Given the description of an element on the screen output the (x, y) to click on. 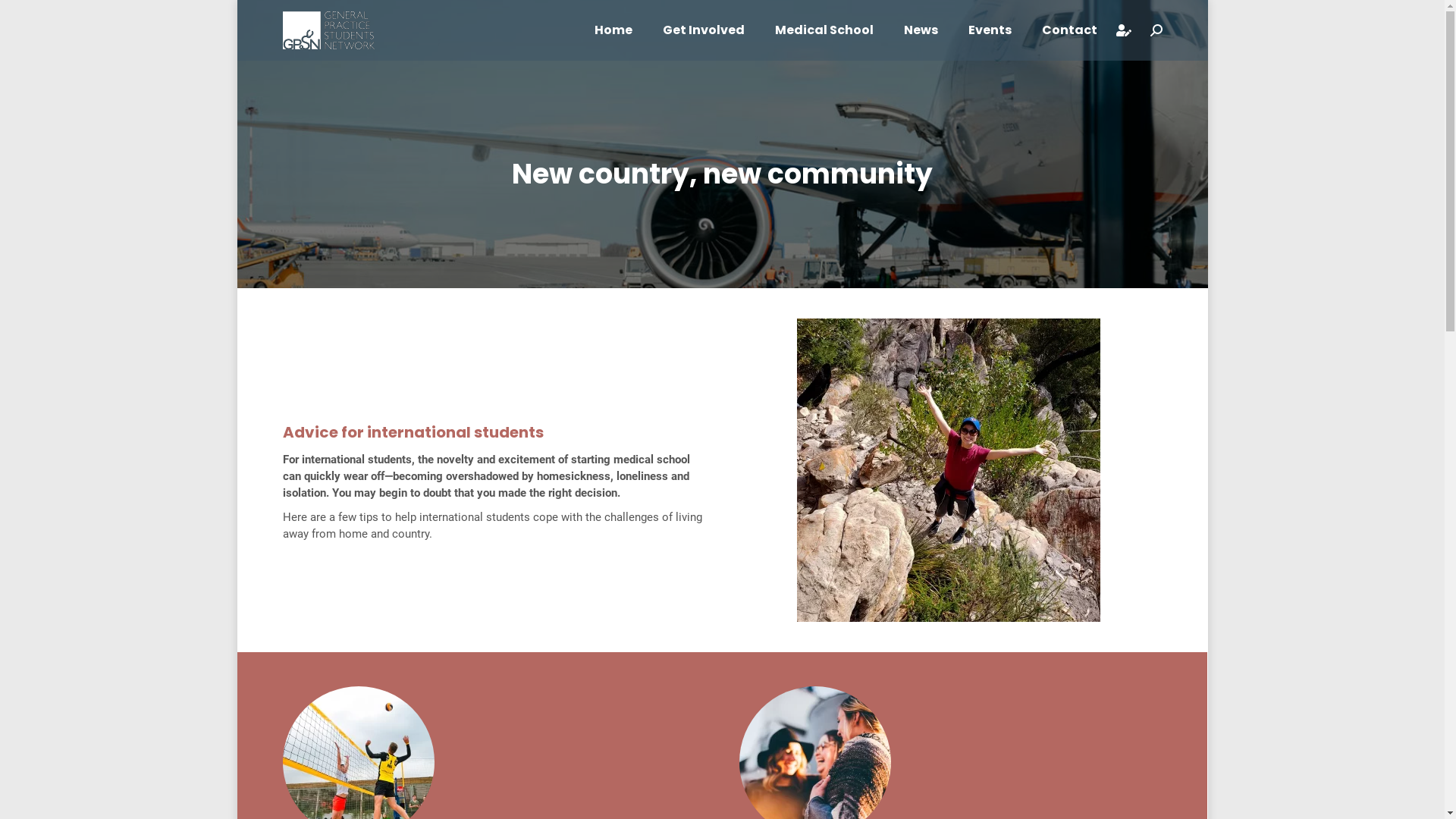
Home Element type: text (613, 29)
Contact Element type: text (1069, 29)
Medical School Element type: text (824, 29)
Events Element type: text (988, 29)
Get Involved Element type: text (703, 29)
Go! Element type: text (28, 24)
News Element type: text (920, 29)
